Given the description of an element on the screen output the (x, y) to click on. 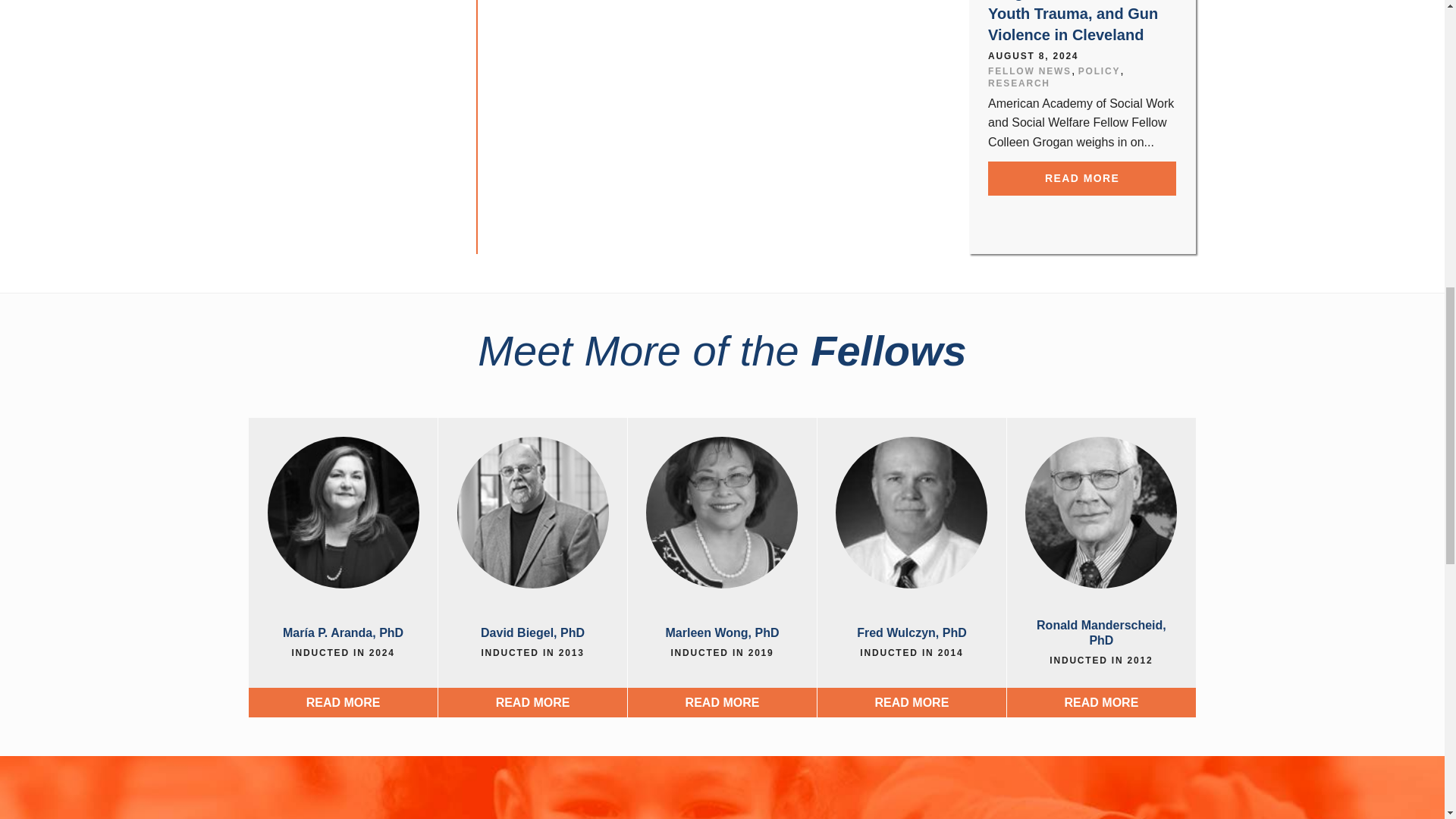
RESEARCH (1018, 82)
READ MORE (1082, 178)
FELLOW NEWS (1029, 71)
POLICY (1098, 71)
